Given the description of an element on the screen output the (x, y) to click on. 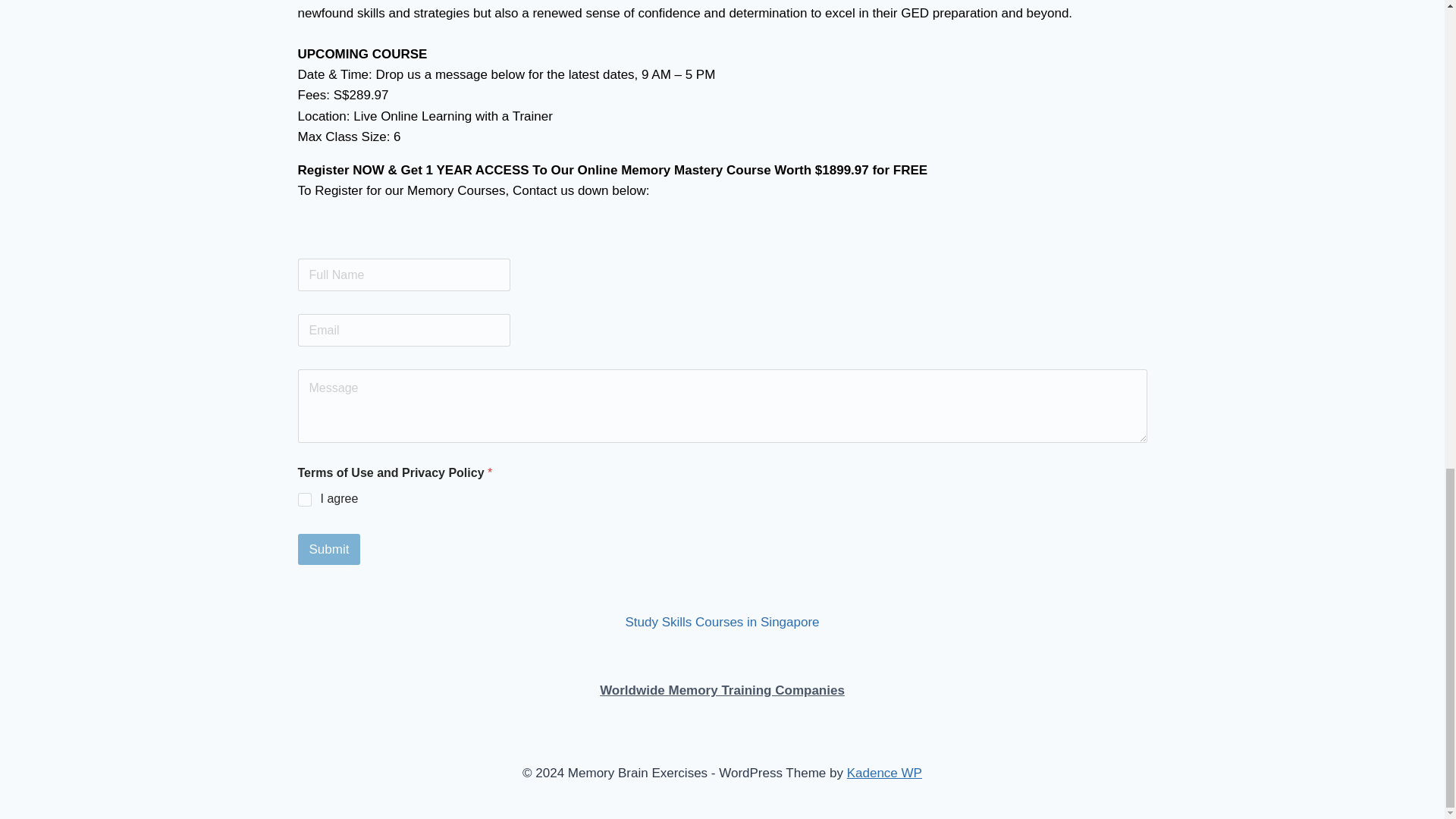
Kadence WP (884, 772)
Worldwide Memory Training Companies (721, 689)
Submit (328, 549)
Study Skills Courses in Singapore (721, 622)
I agree (304, 500)
